Given the description of an element on the screen output the (x, y) to click on. 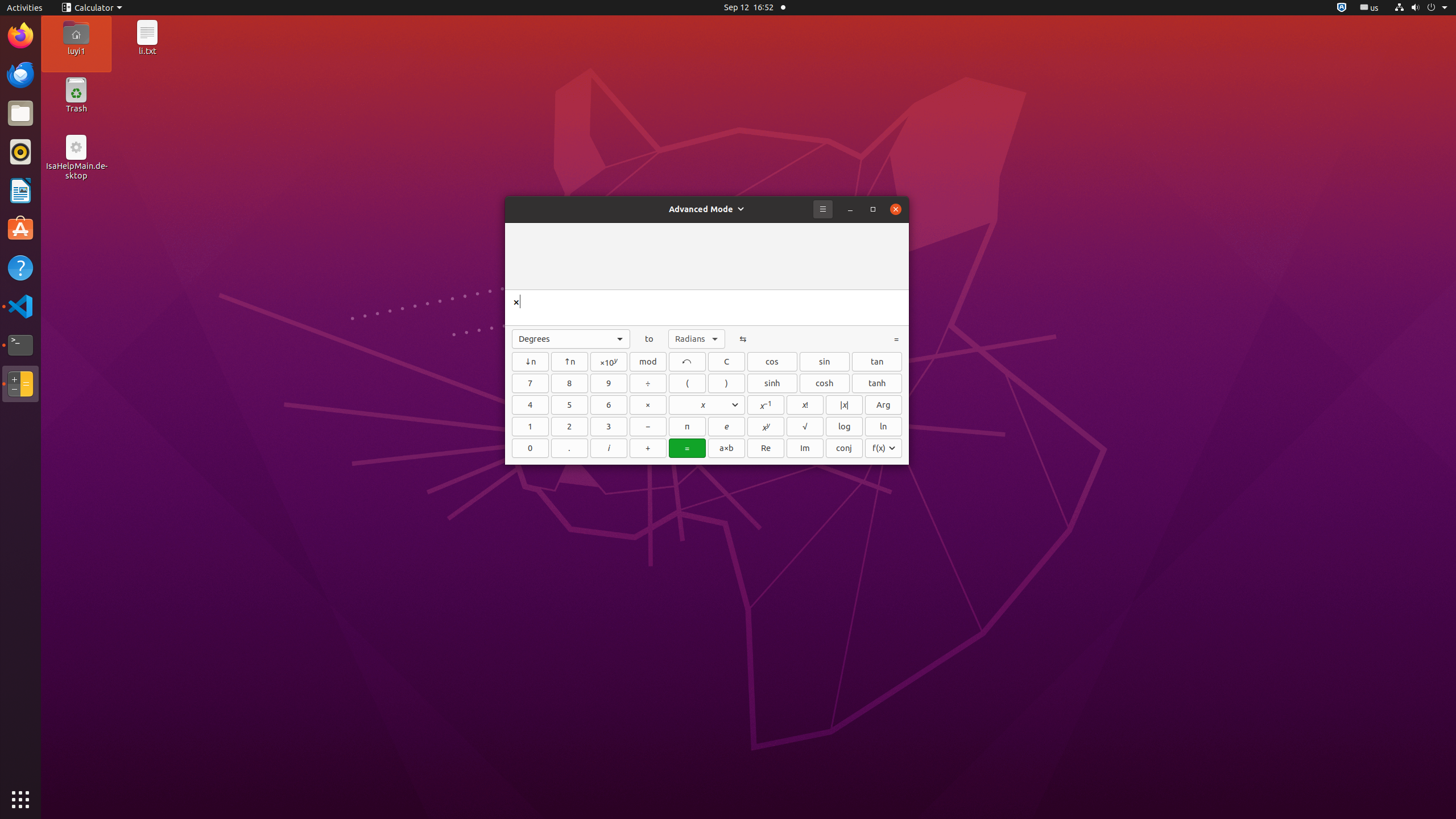
Scientific Exponent Element type: push-button (608, 361)
Re Element type: push-button (765, 447)
Exponent Element type: push-button (765, 426)
+ Element type: push-button (647, 447)
